Given the description of an element on the screen output the (x, y) to click on. 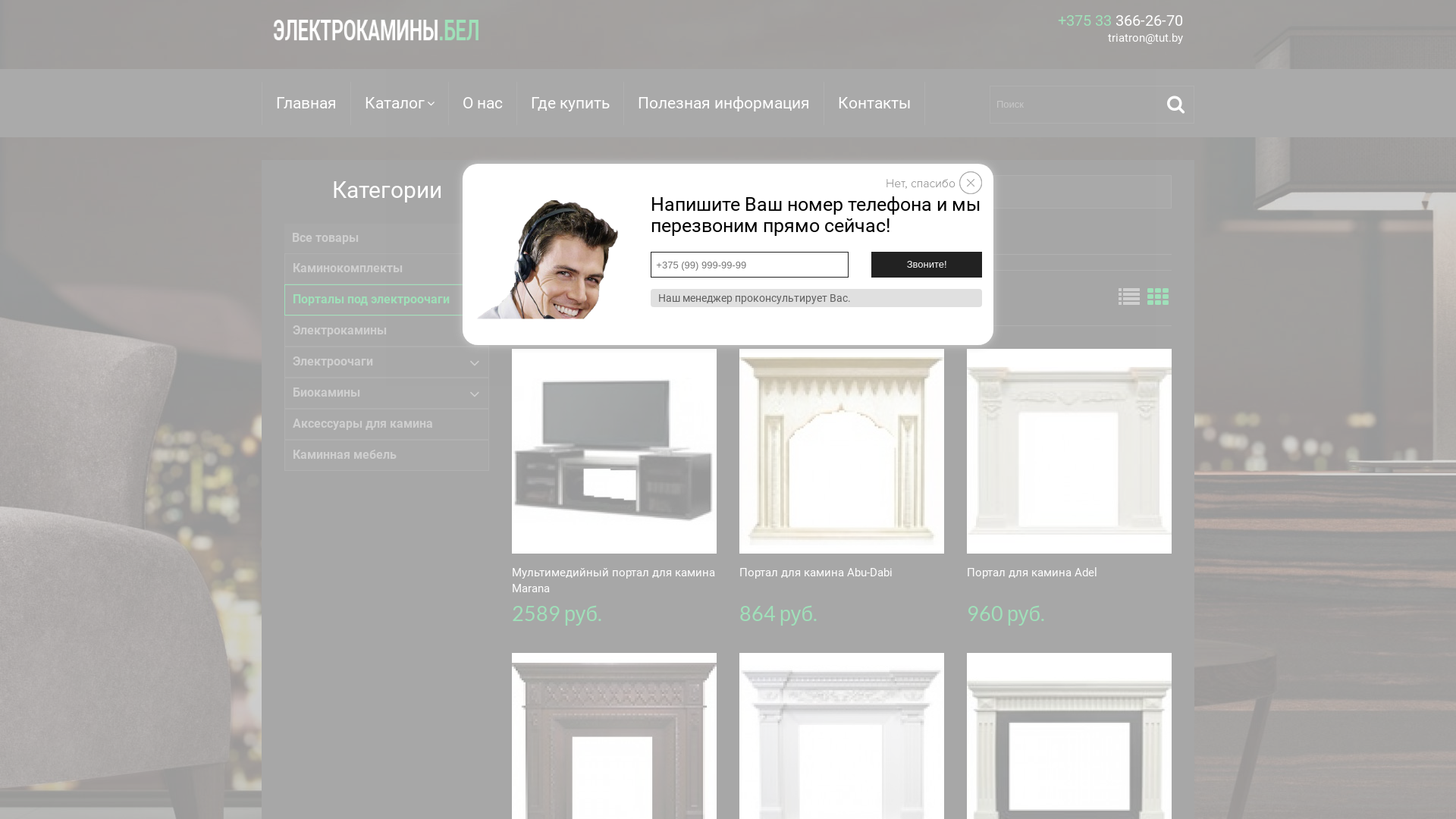
Dimplex Element type: text (826, 191)
triatron@tut.by Element type: text (1145, 37)
